Given the description of an element on the screen output the (x, y) to click on. 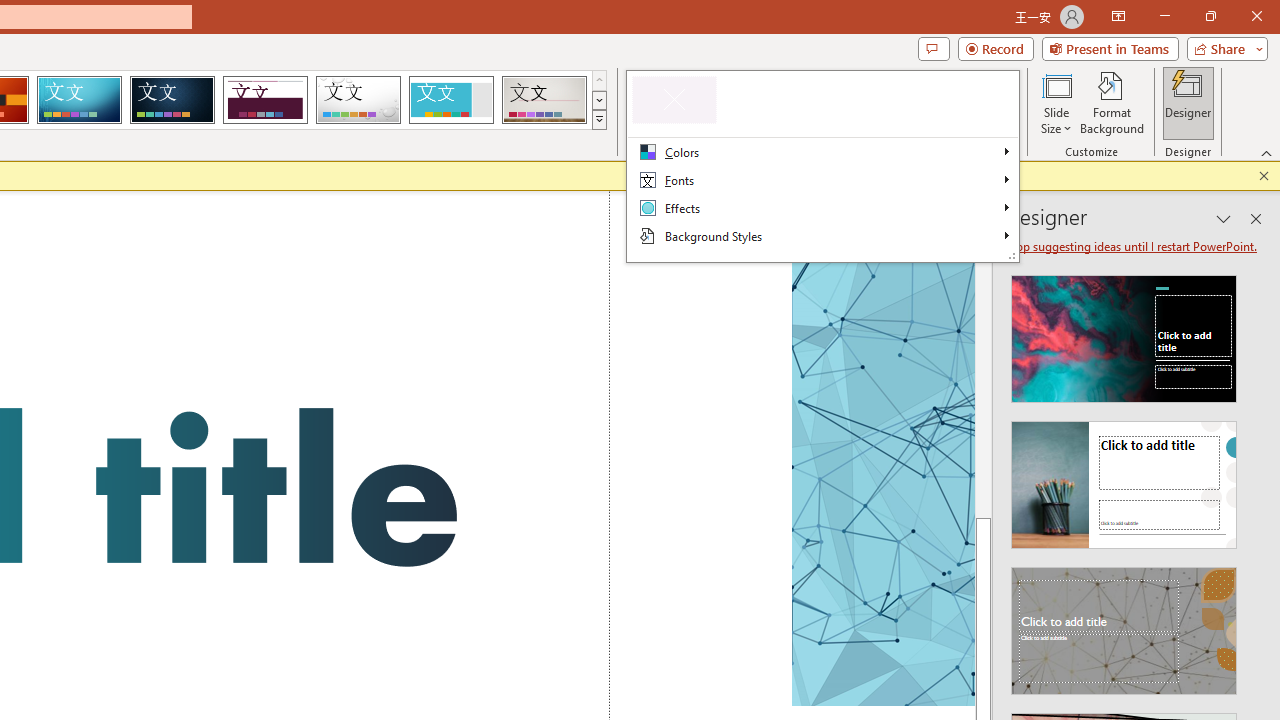
Droplet (358, 100)
Class: Net UI Tool Window (822, 165)
Circuit (79, 100)
